Given the description of an element on the screen output the (x, y) to click on. 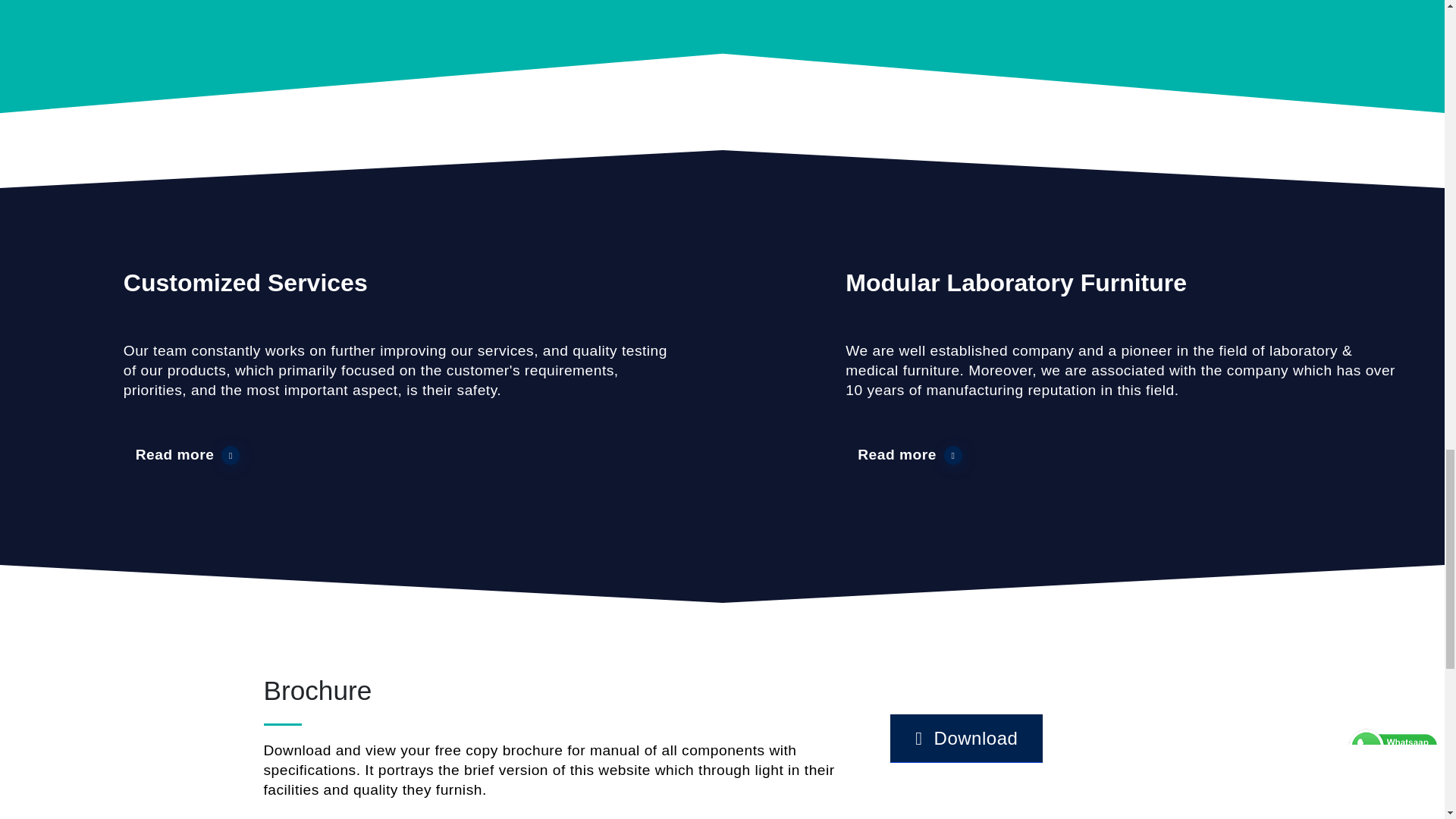
Download (965, 738)
Read more (909, 454)
Read more (187, 454)
